Given the description of an element on the screen output the (x, y) to click on. 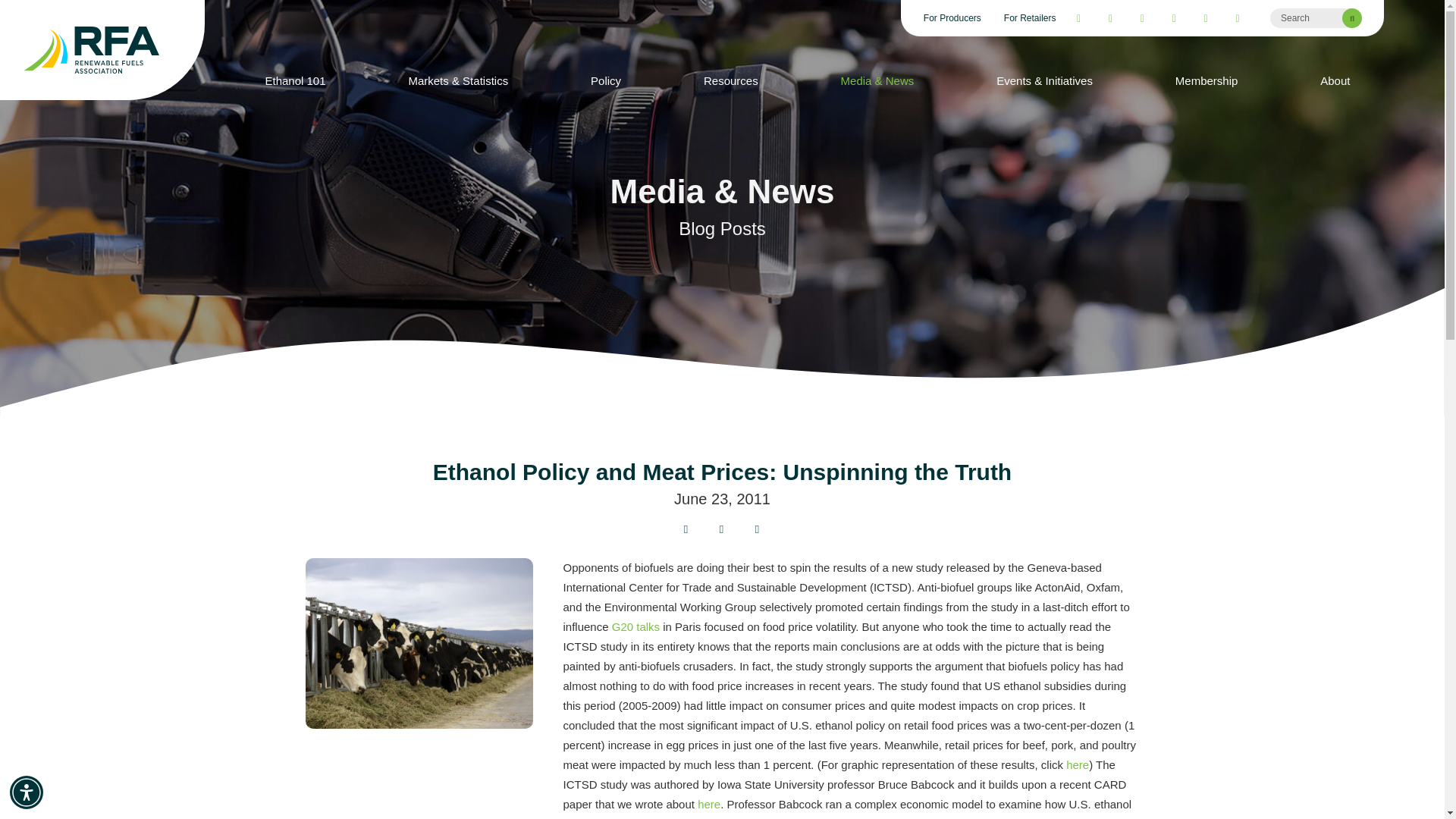
Facebook (1078, 17)
Twitter (1110, 17)
YouTube (1142, 17)
LinkedIn (1205, 17)
Accessibility Menu (26, 792)
Home (102, 49)
Instagram (1173, 17)
Flickr (1237, 17)
